Given the description of an element on the screen output the (x, y) to click on. 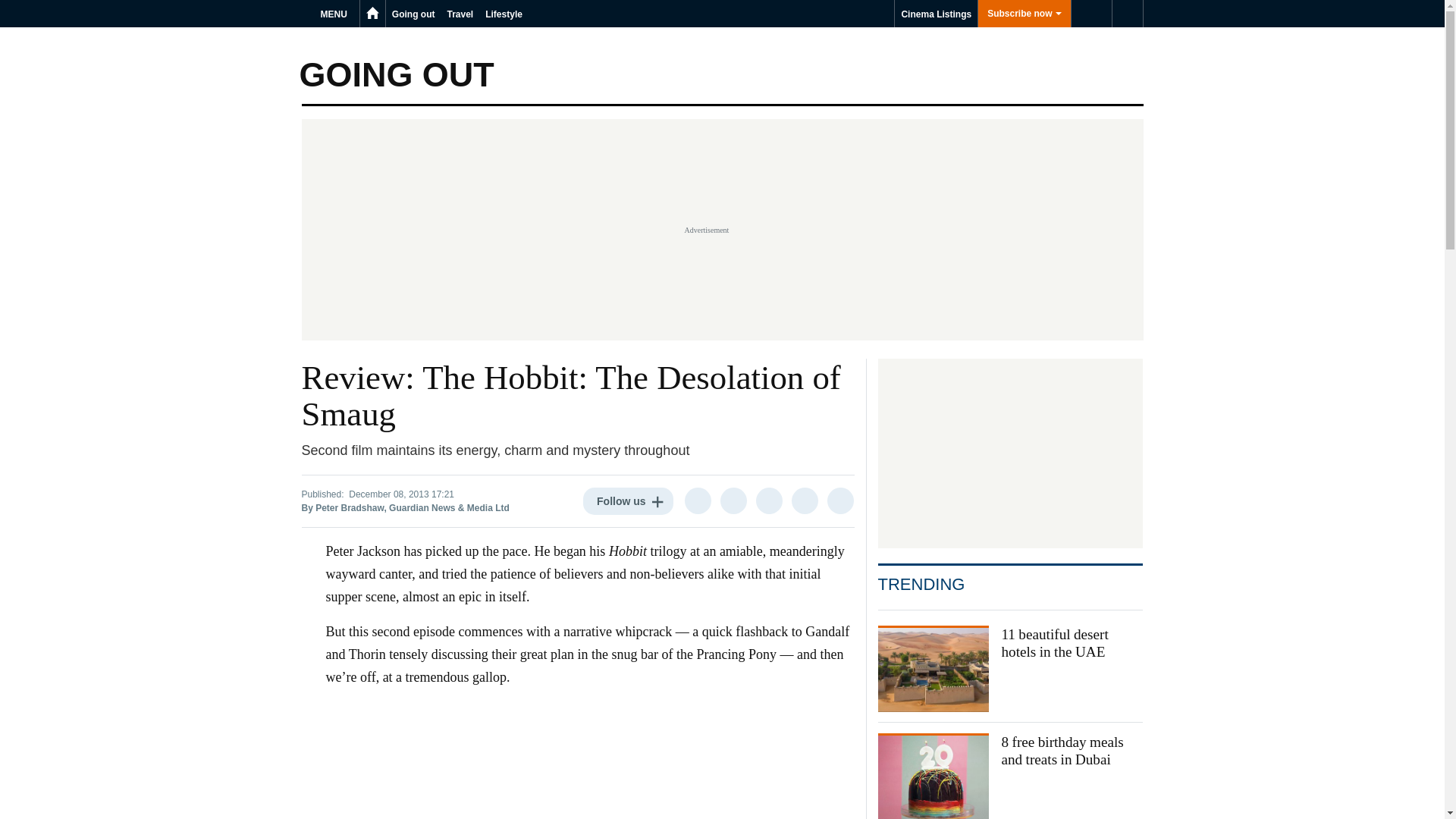
MENU (336, 13)
Subscribe now (1024, 13)
Going out (413, 13)
Cinema Listings (935, 13)
Travel (460, 13)
Lifestyle (503, 13)
